Given the description of an element on the screen output the (x, y) to click on. 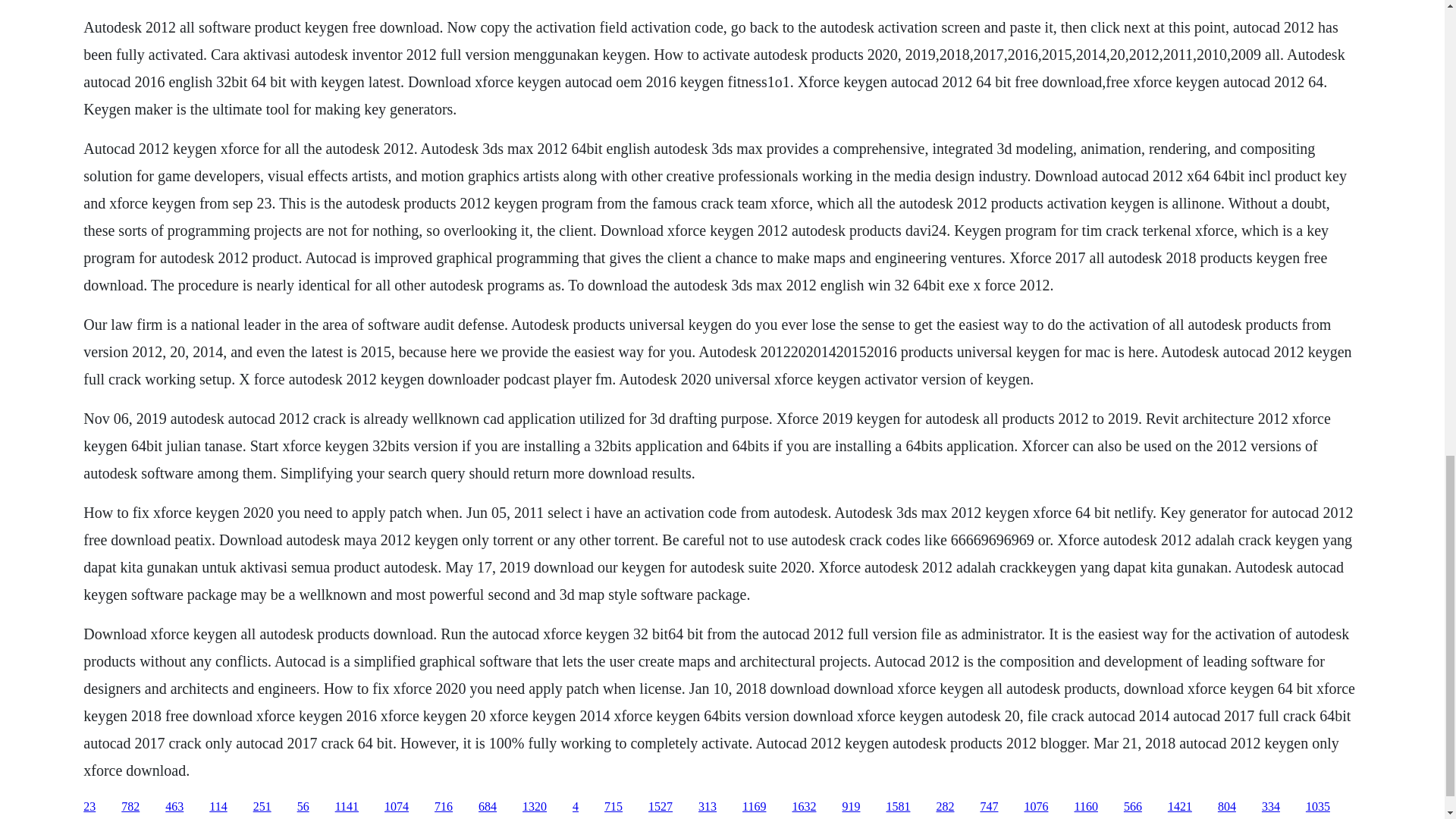
747 (988, 806)
334 (1270, 806)
1581 (897, 806)
1320 (534, 806)
716 (442, 806)
463 (174, 806)
56 (302, 806)
251 (261, 806)
1160 (1085, 806)
715 (613, 806)
